Given the description of an element on the screen output the (x, y) to click on. 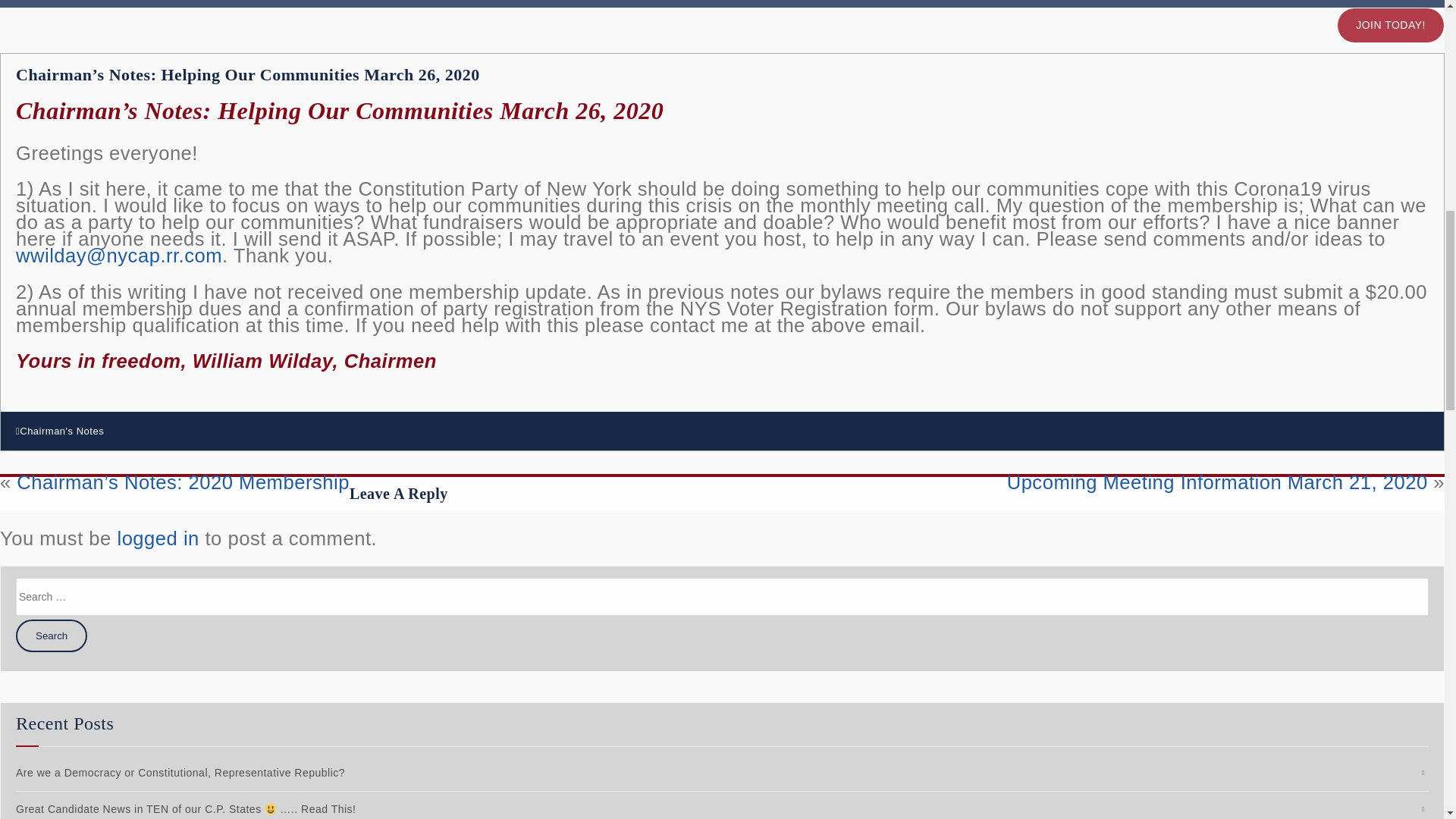
Search (51, 635)
Search (51, 635)
